Given the description of an element on the screen output the (x, y) to click on. 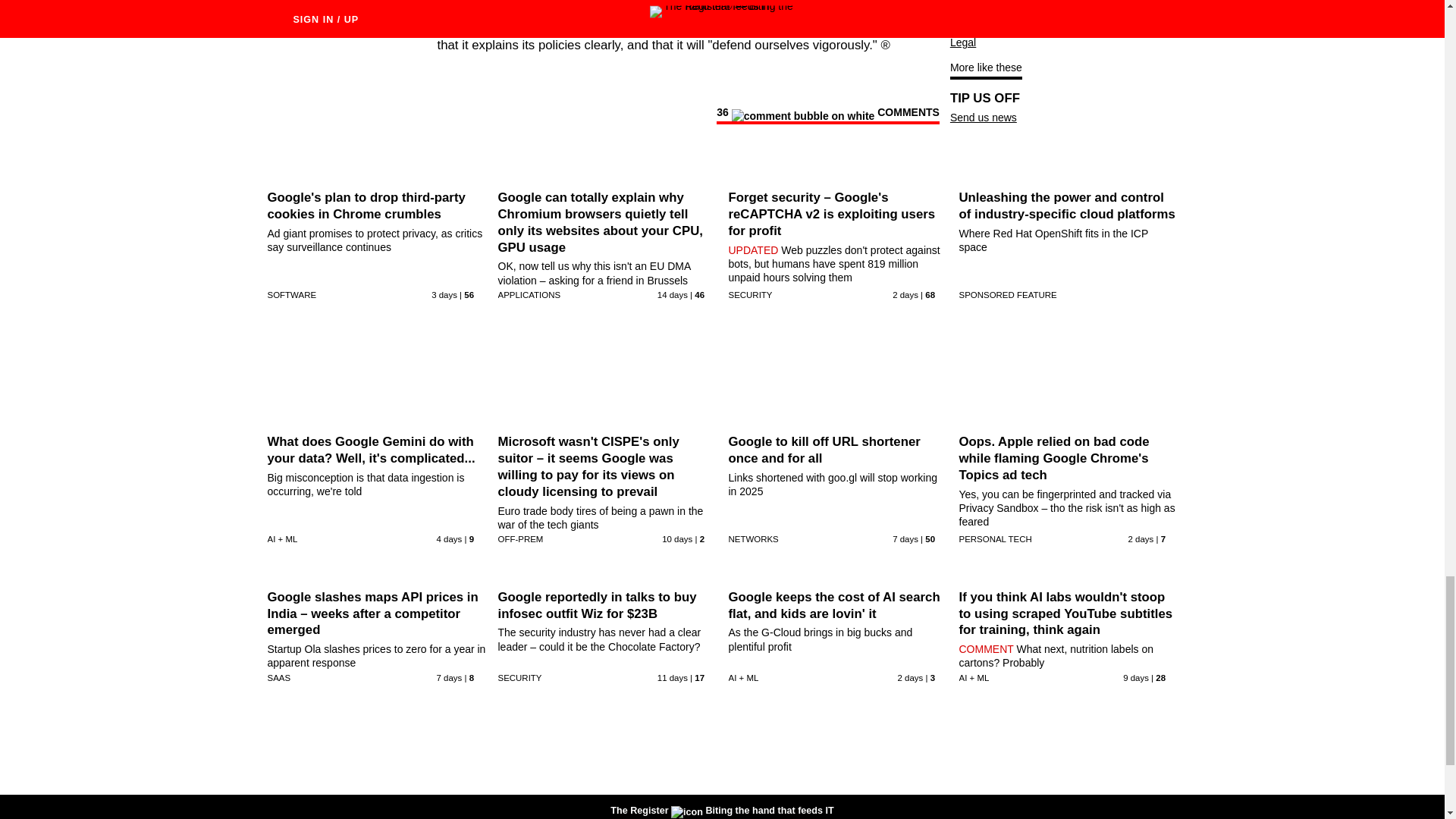
12 Jul 2024 10:28 (672, 294)
16 Jul 2024 4:1 (677, 538)
24 Jul 2024 20:44 (1141, 538)
19 Jul 2024 13:29 (905, 538)
24 Jul 2024 6:33 (905, 294)
23 Jul 2024 0:3 (443, 294)
22 Jul 2024 19:15 (449, 538)
View comments on this article (827, 115)
